Given the description of an element on the screen output the (x, y) to click on. 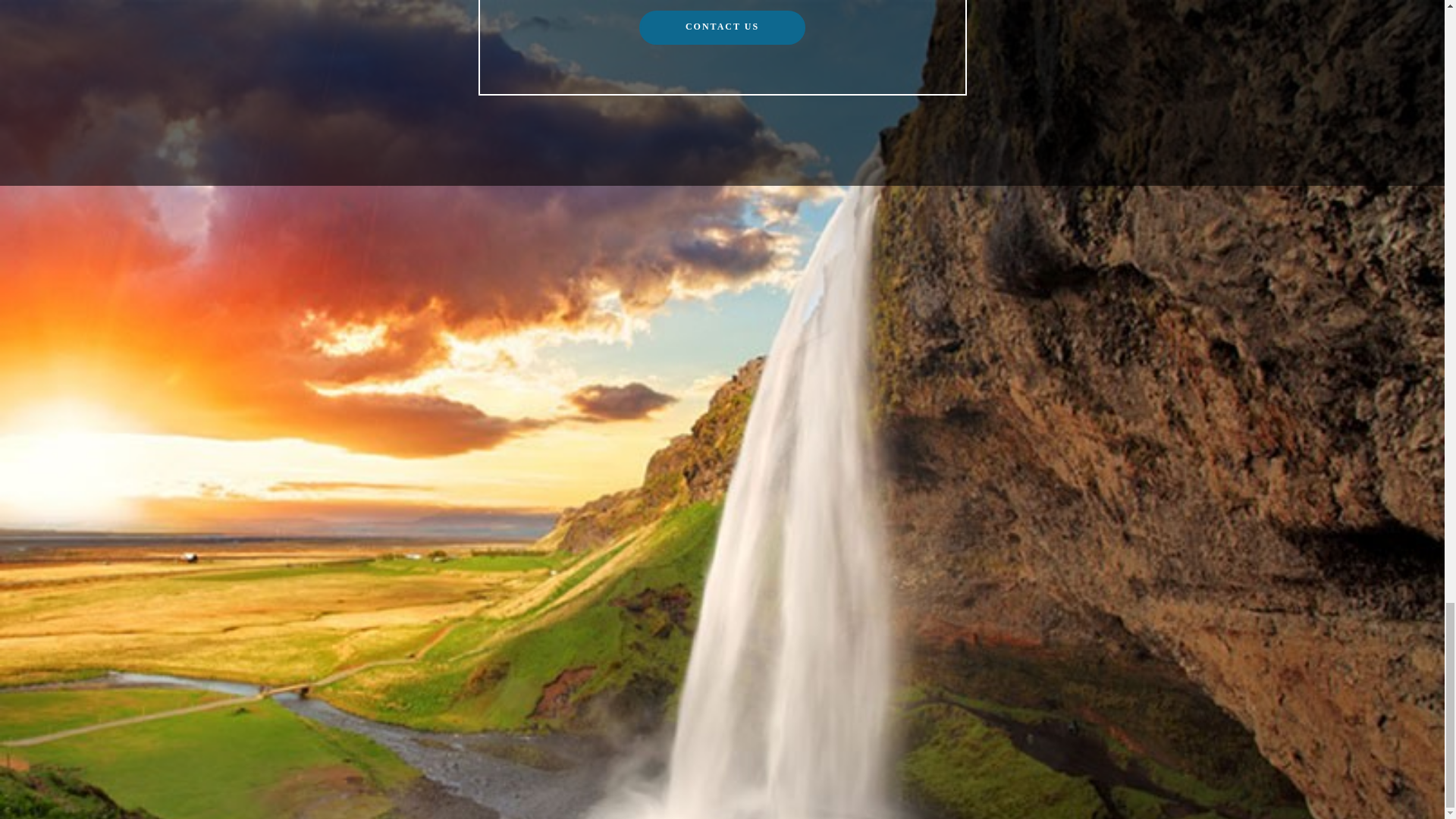
Linkedin (470, 799)
Youtube (417, 799)
